Given the description of an element on the screen output the (x, y) to click on. 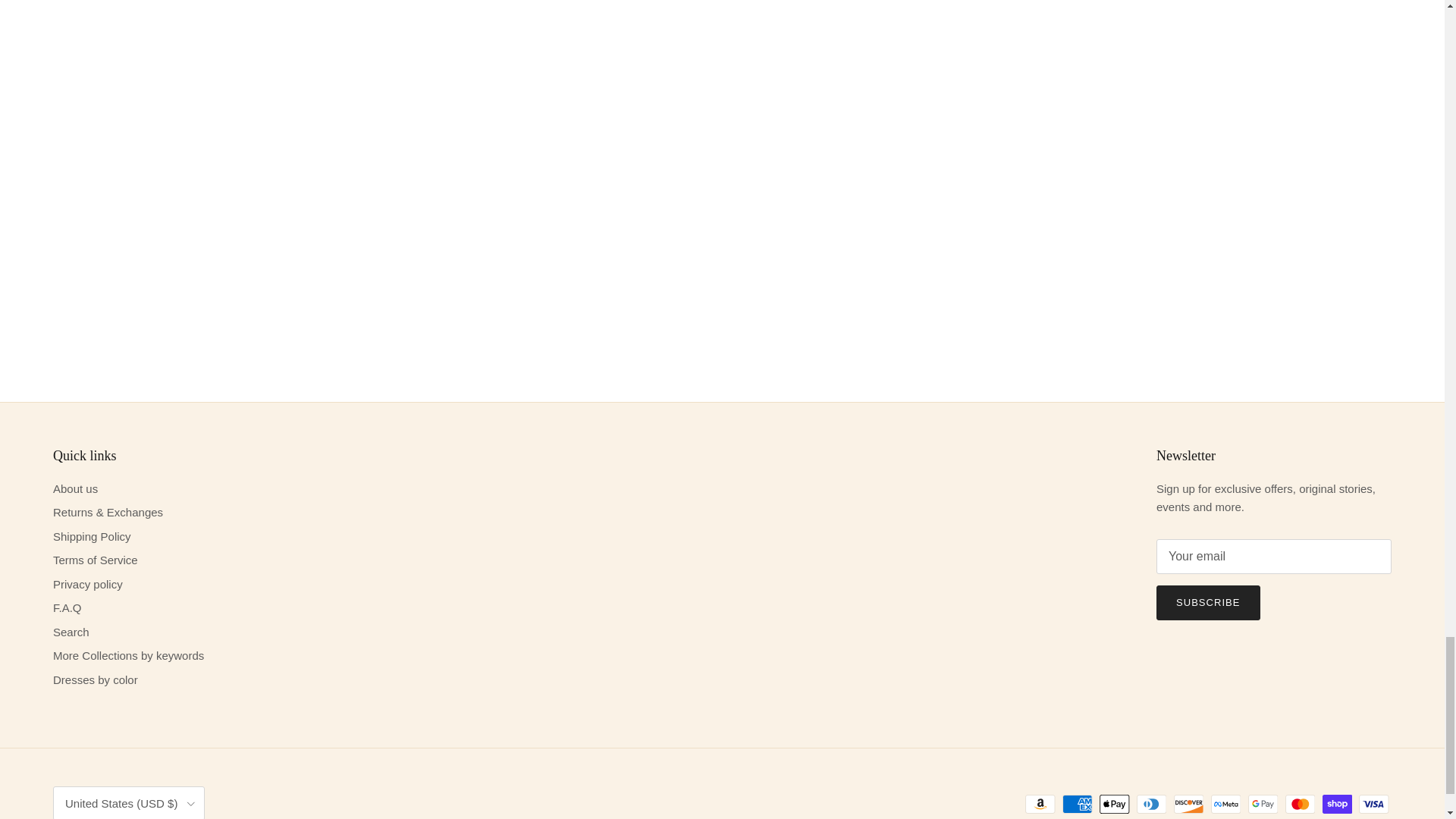
Diners Club (1151, 804)
Discover (1188, 804)
Visa (1373, 804)
Google Pay (1262, 804)
Mastercard (1299, 804)
American Express (1077, 804)
Meta Pay (1225, 804)
Apple Pay (1114, 804)
Shop Pay (1337, 804)
Amazon (1040, 804)
